Given the description of an element on the screen output the (x, y) to click on. 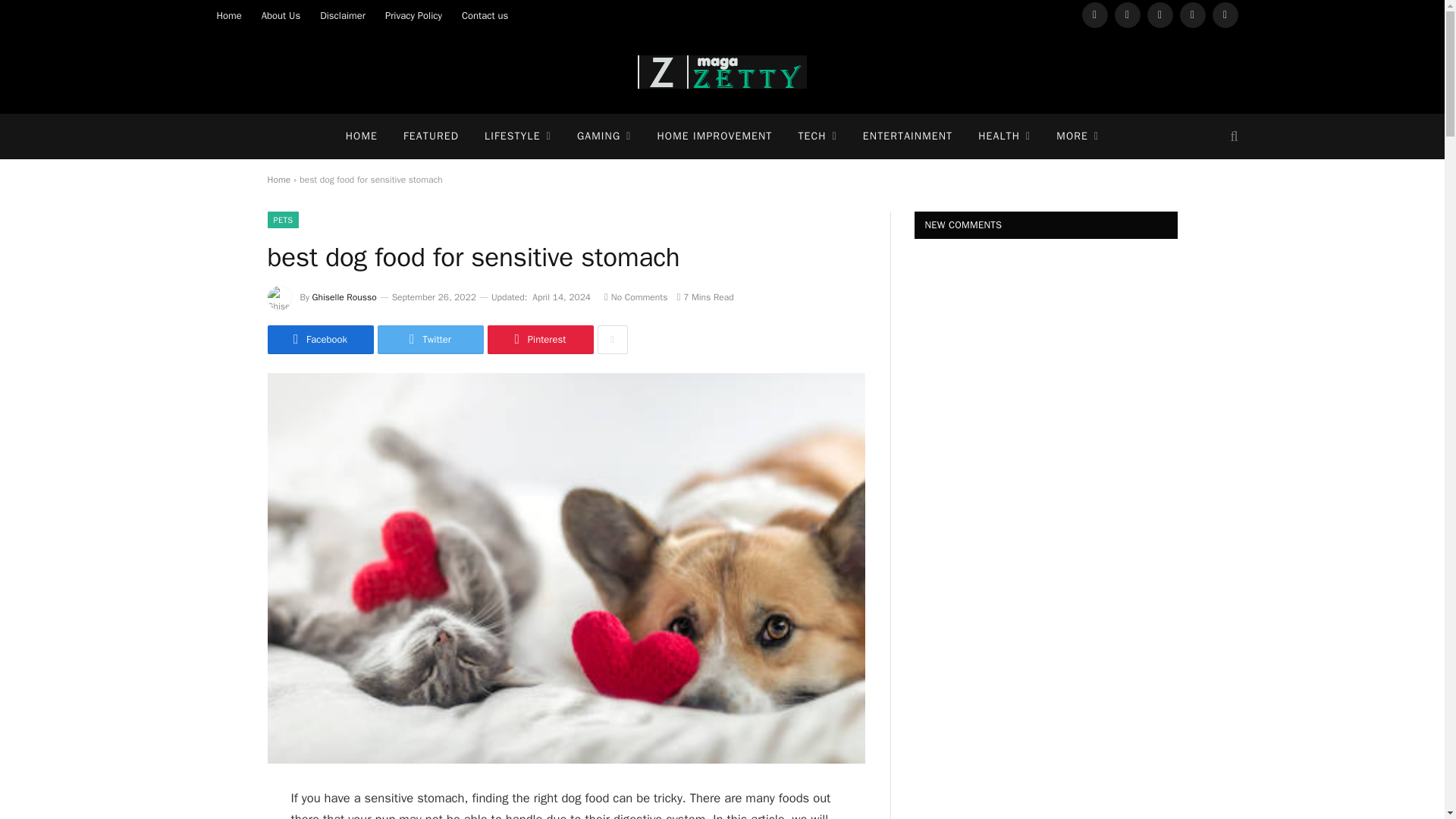
LIFESTYLE (517, 135)
Facebook (1094, 14)
Privacy Policy (413, 15)
HOME (361, 135)
HEALTH (1004, 135)
About Us (280, 15)
TECH (816, 135)
HOME IMPROVEMENT (713, 135)
Instagram (1160, 14)
ENTERTAINMENT (907, 135)
Vimeo (1192, 14)
Disclaimer (342, 15)
Home (228, 15)
VKontakte (1225, 14)
Share on Pinterest (539, 339)
